Given the description of an element on the screen output the (x, y) to click on. 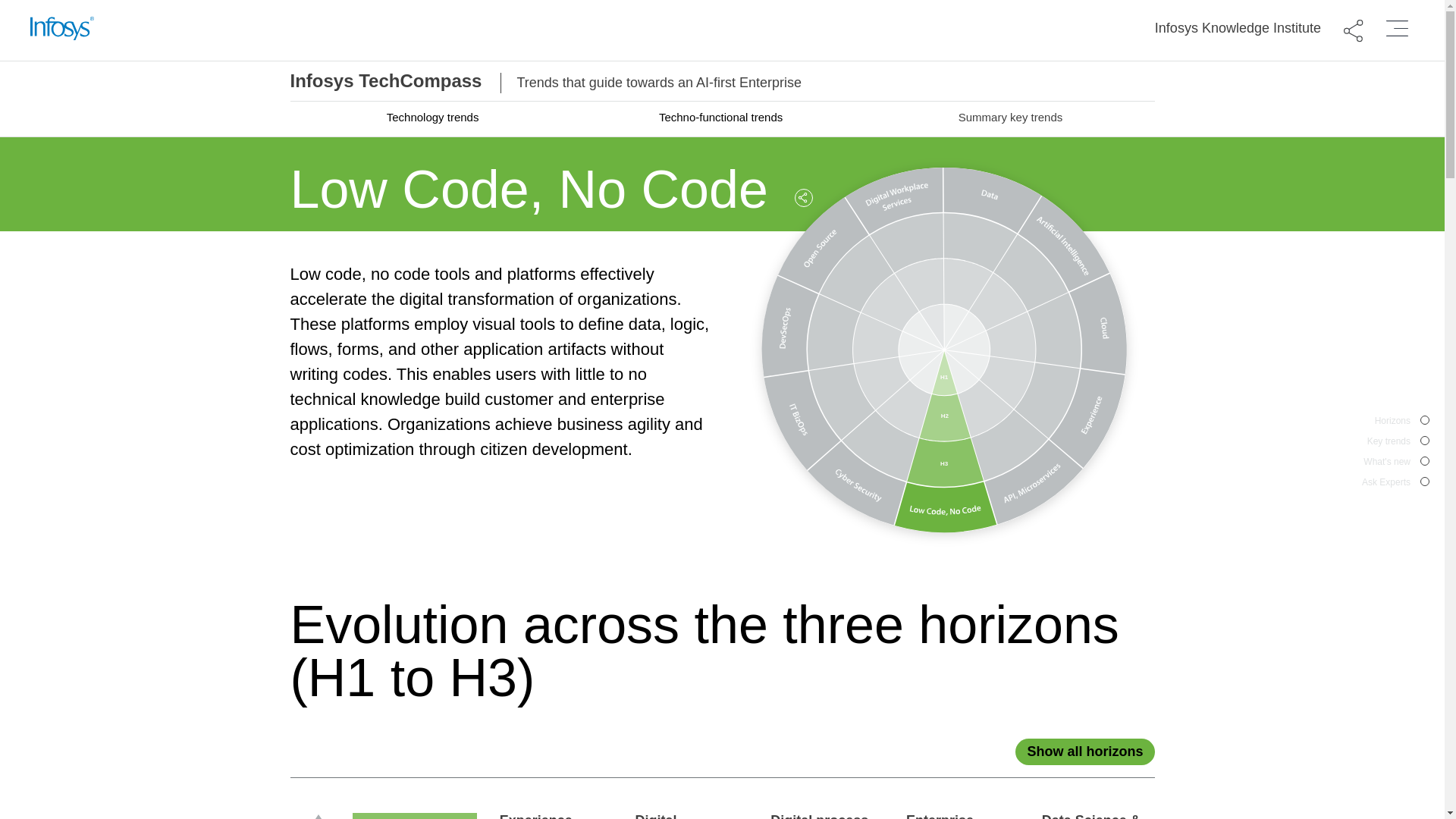
Technology trends (1380, 450)
Infosys TechCompass (1237, 28)
